Given the description of an element on the screen output the (x, y) to click on. 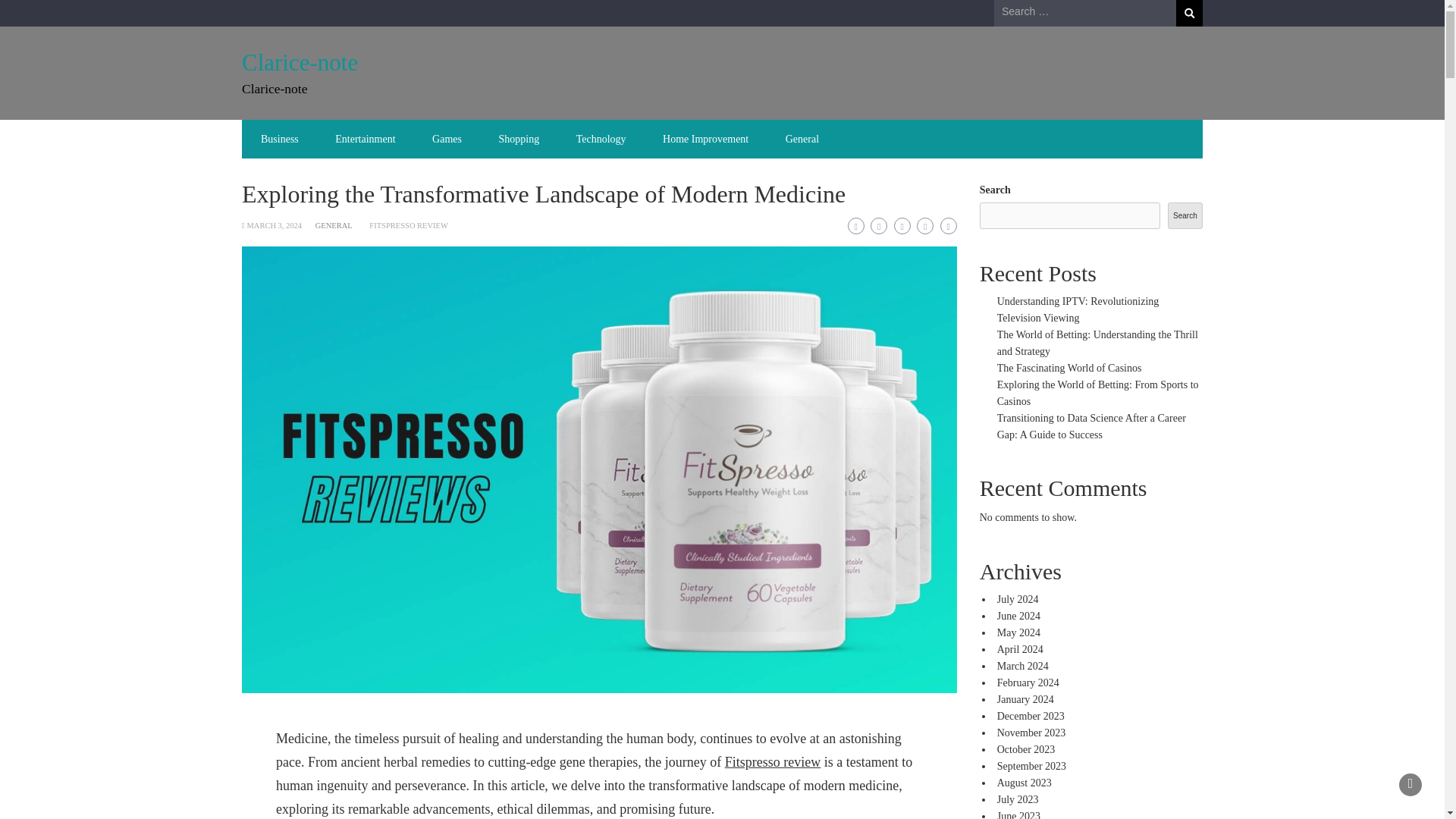
Exploring the World of Betting: From Sports to Casinos (1097, 393)
March 2024 (1022, 665)
Understanding IPTV: Revolutionizing Television Viewing (1077, 309)
The World of Betting: Understanding the Thrill and Strategy (1097, 343)
Search (1189, 13)
June 2024 (1019, 615)
Games (446, 138)
Search (1184, 215)
Home Improvement (704, 138)
Business (280, 138)
Clarice-note (299, 62)
FITSPRESSO REVIEW (408, 225)
Fitspresso review (773, 761)
GENERAL (333, 225)
